Given the description of an element on the screen output the (x, y) to click on. 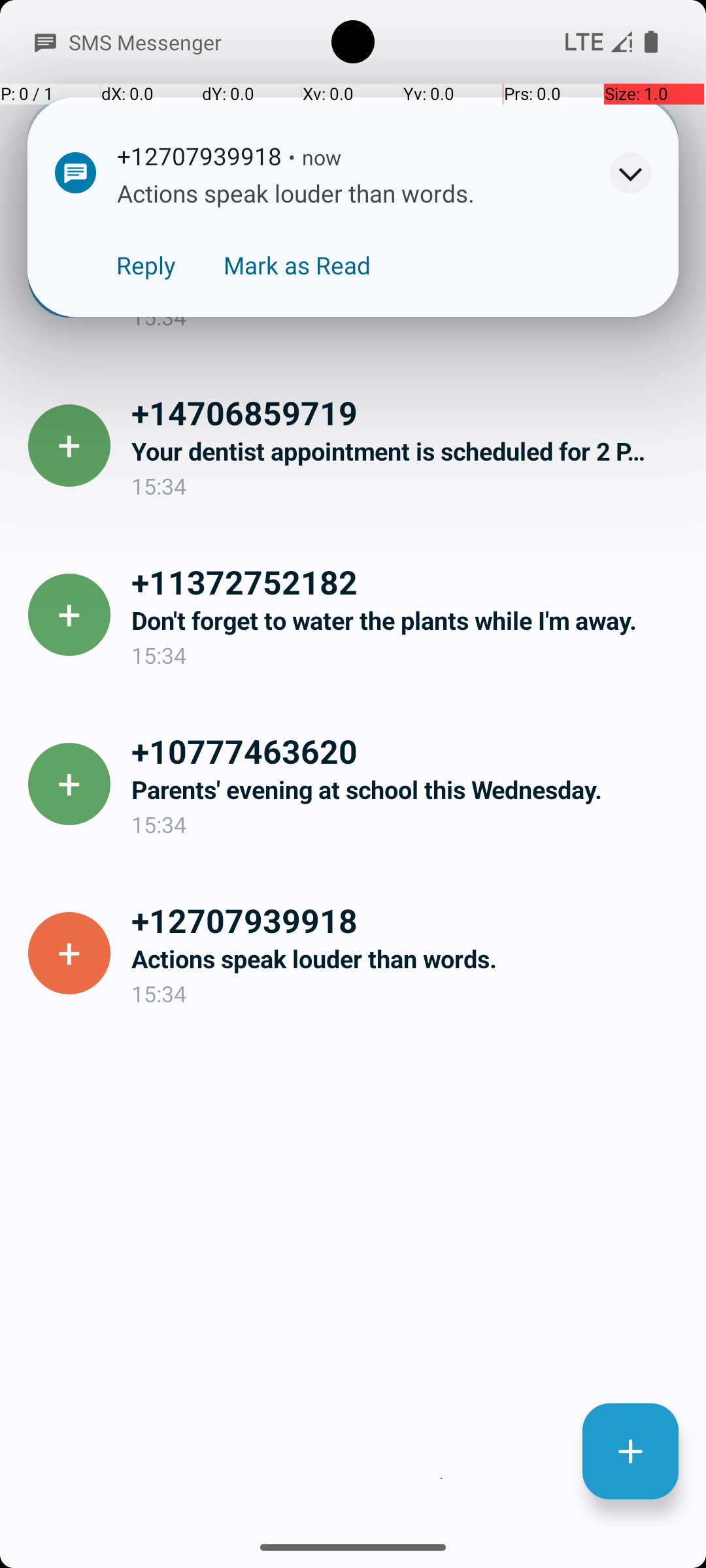
+19773875010 Element type: android.widget.TextView (408, 242)
May the Force be with you. Element type: android.widget.TextView (408, 281)
+14706859719 Element type: android.widget.TextView (408, 412)
Your dentist appointment is scheduled for 2 PM on Thursday. Element type: android.widget.TextView (408, 450)
+11372752182 Element type: android.widget.TextView (408, 581)
Don't forget to water the plants while I'm away. Element type: android.widget.TextView (408, 620)
+10777463620 Element type: android.widget.TextView (408, 750)
Parents' evening at school this Wednesday. Element type: android.widget.TextView (408, 789)
+12707939918 Element type: android.widget.TextView (408, 919)
Actions speak louder than words. Element type: android.widget.TextView (408, 958)
Reply Element type: android.widget.Button (146, 265)
Mark as Read Element type: android.widget.Button (296, 265)
• Element type: android.widget.TextView (291, 157)
now Element type: android.widget.TextView (321, 157)
Alerted Element type: android.widget.ImageView (361, 158)
